Given the description of an element on the screen output the (x, y) to click on. 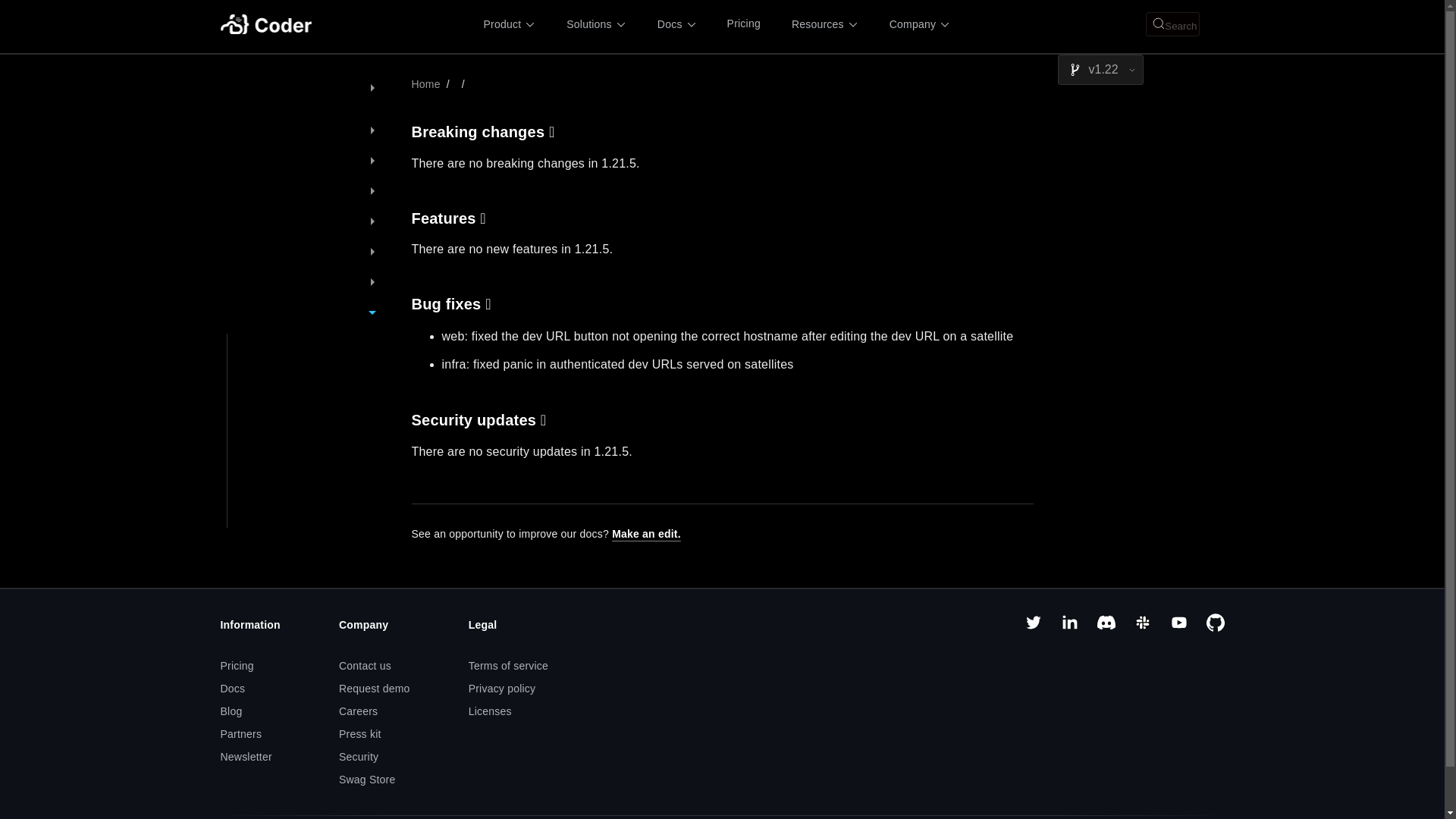
Slack (1141, 627)
Home (424, 83)
Pricing (743, 24)
Discord (1105, 627)
Search (1172, 24)
